Given the description of an element on the screen output the (x, y) to click on. 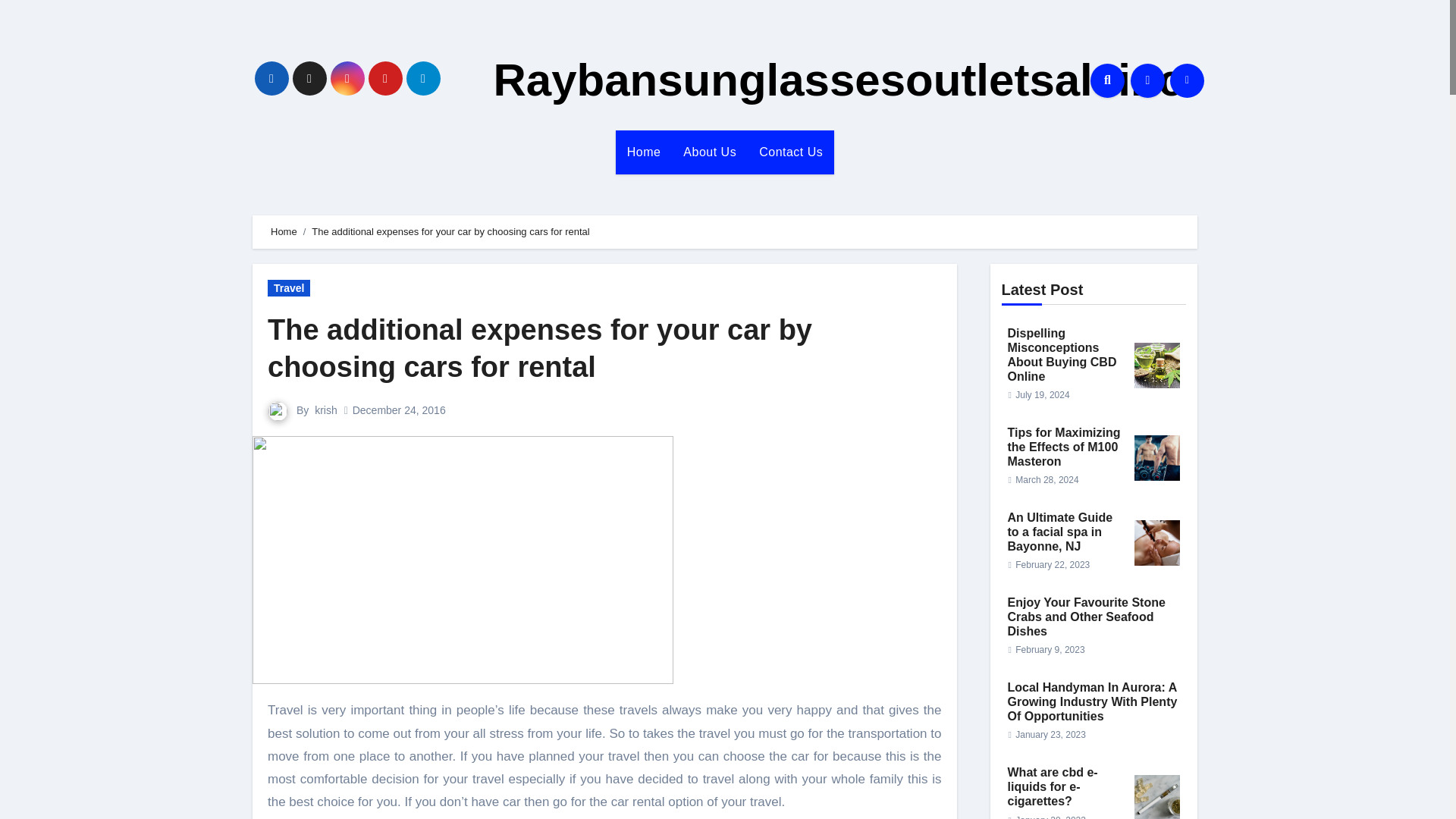
December 24, 2016 (398, 410)
Home (643, 152)
Travel (288, 288)
Raybansunglassesoutletsaleinc (837, 79)
Contact Us (791, 152)
Home (643, 152)
Home (283, 231)
About Us (709, 152)
krish (325, 410)
